Given the description of an element on the screen output the (x, y) to click on. 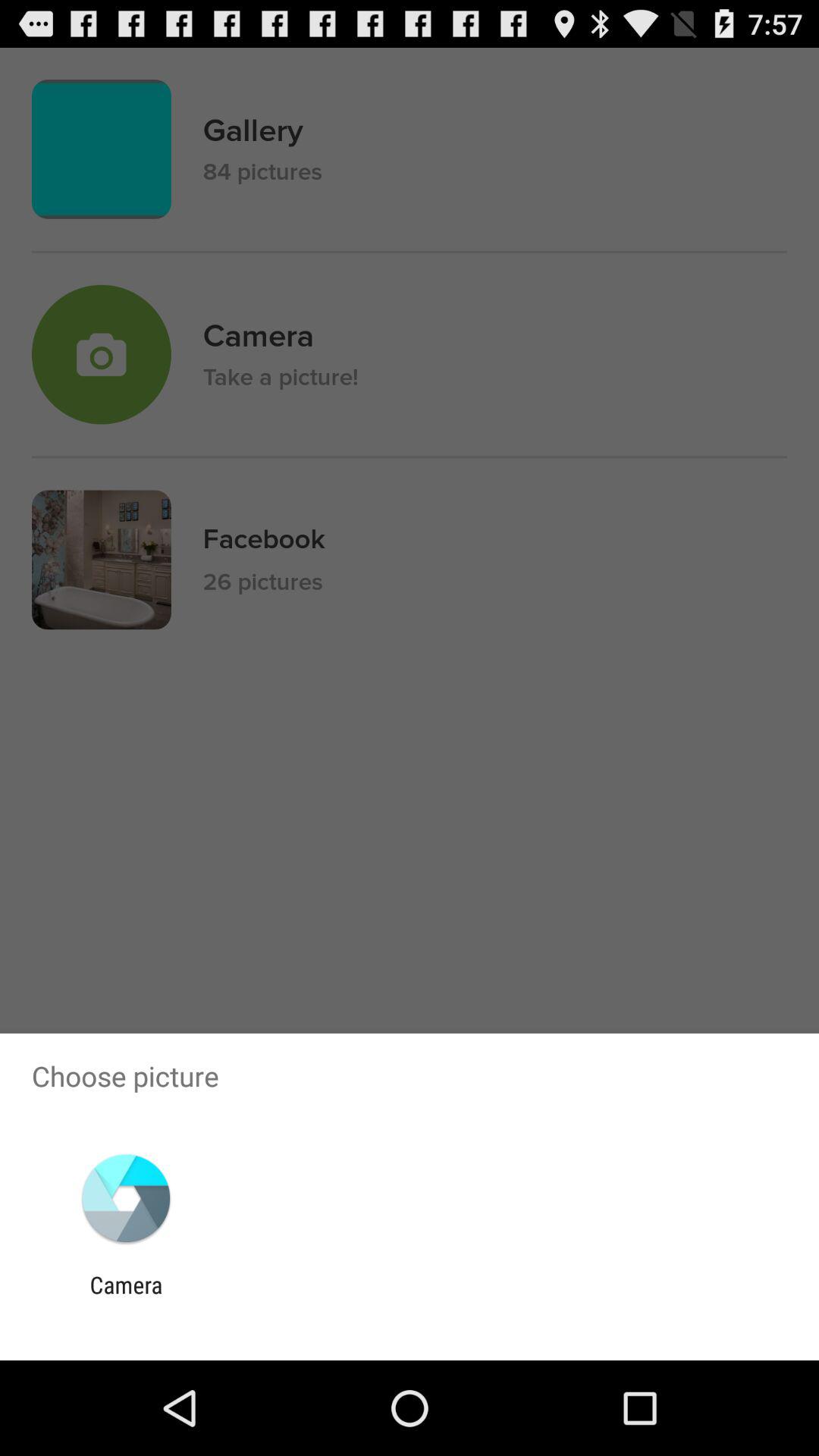
swipe until the camera icon (125, 1298)
